Given the description of an element on the screen output the (x, y) to click on. 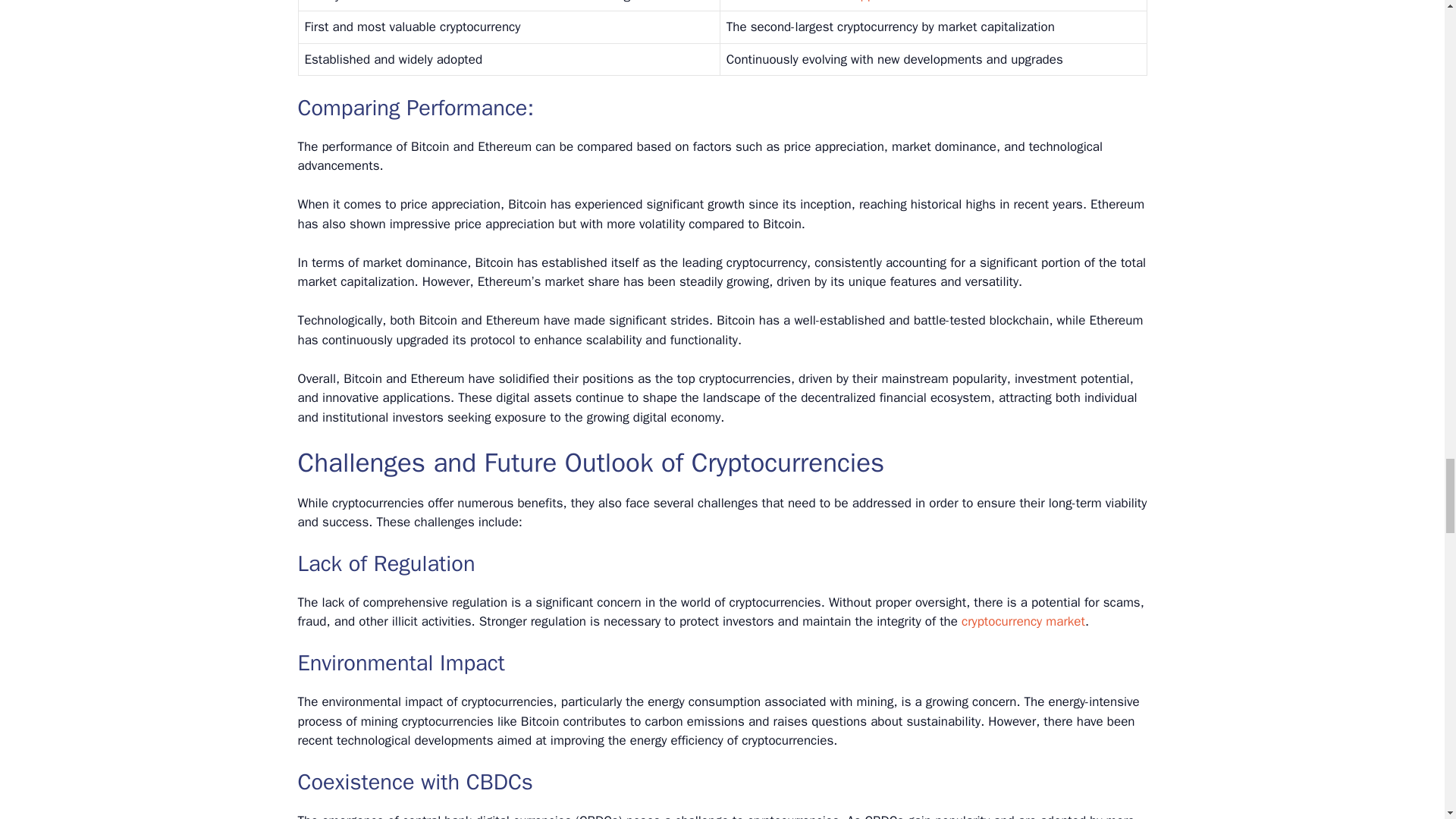
decentralized applications (847, 1)
cryptocurrency market (1022, 621)
decentralized applications (847, 1)
cryptocurrency market (1022, 621)
